Given the description of an element on the screen output the (x, y) to click on. 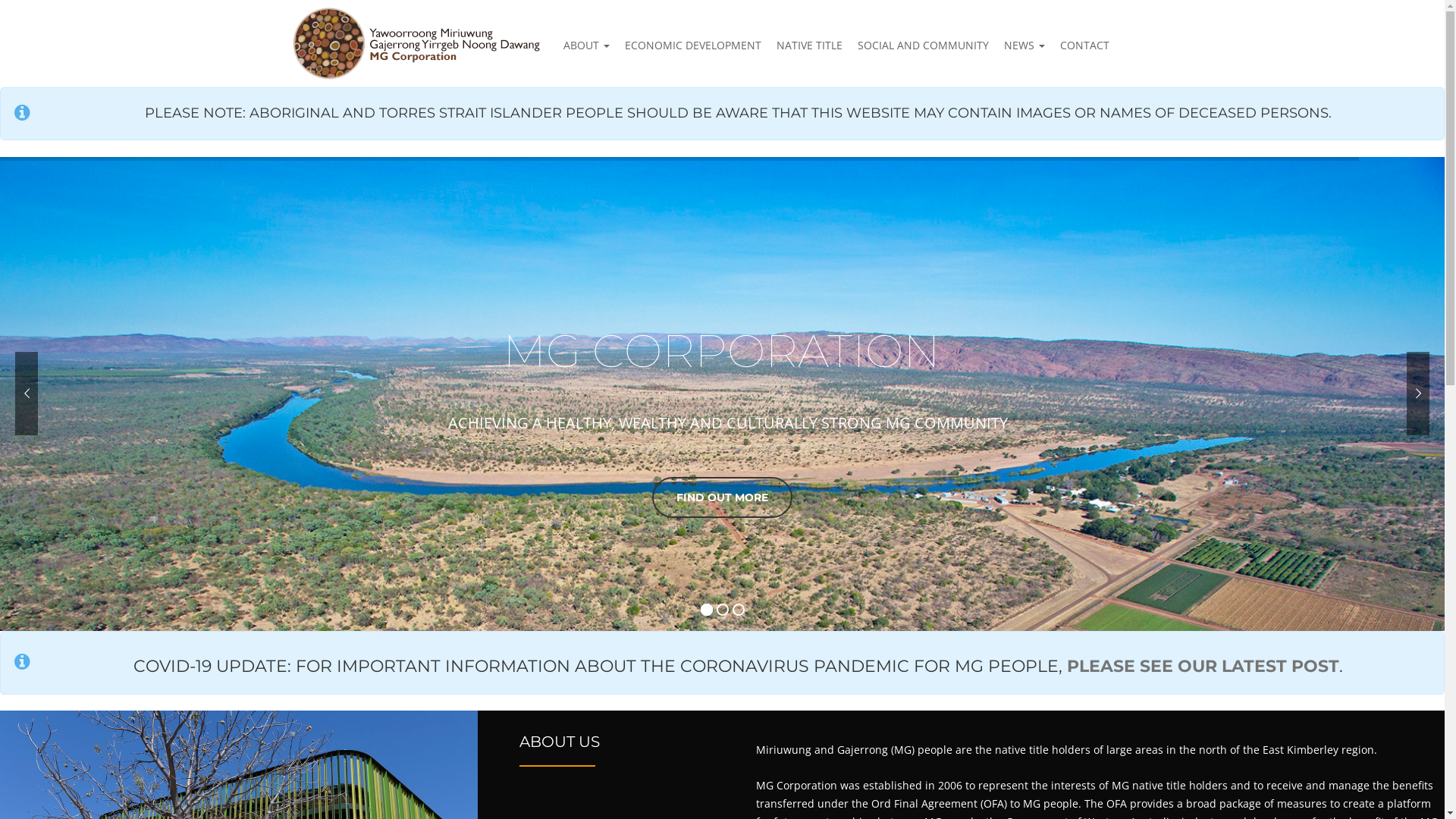
PLEASE SEE OUR LATEST POST Element type: text (1202, 665)
FIND OUT MORE Element type: text (722, 496)
NEWS Element type: text (1024, 45)
CONTACT Element type: text (1080, 45)
SOCIAL AND COMMUNITY Element type: text (922, 45)
NATIVE TITLE Element type: text (809, 45)
ECONOMIC DEVELOPMENT Element type: text (692, 45)
ABOUT Element type: text (585, 45)
